Given the description of an element on the screen output the (x, y) to click on. 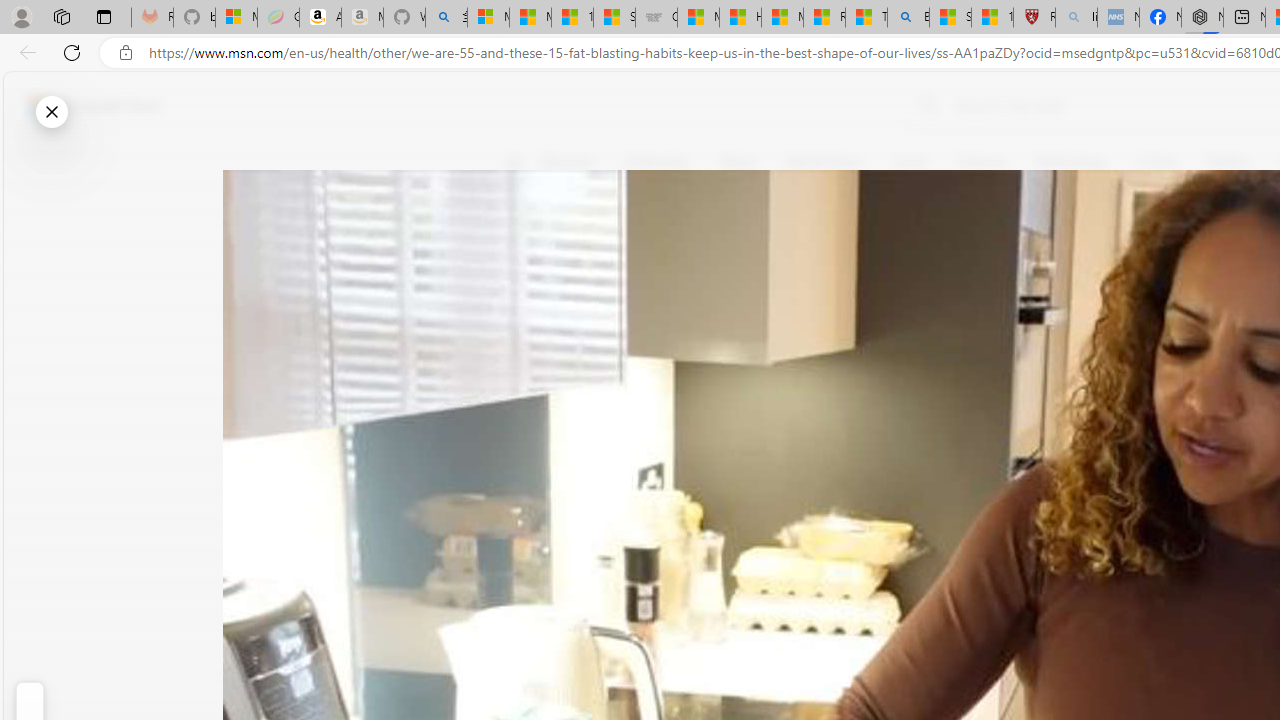
Technology (1071, 162)
Start the conversation (525, 356)
View site information (125, 53)
Science (980, 162)
12 Popular Science Lies that Must be Corrected (991, 17)
Discover (568, 162)
Science - MSN (950, 17)
Workspaces (61, 16)
Robert H. Shmerling, MD - Harvard Health (1033, 17)
Bing (908, 17)
NCL Adult Asthma Inhaler Choice Guideline - Sleeping (1118, 17)
